Given the description of an element on the screen output the (x, y) to click on. 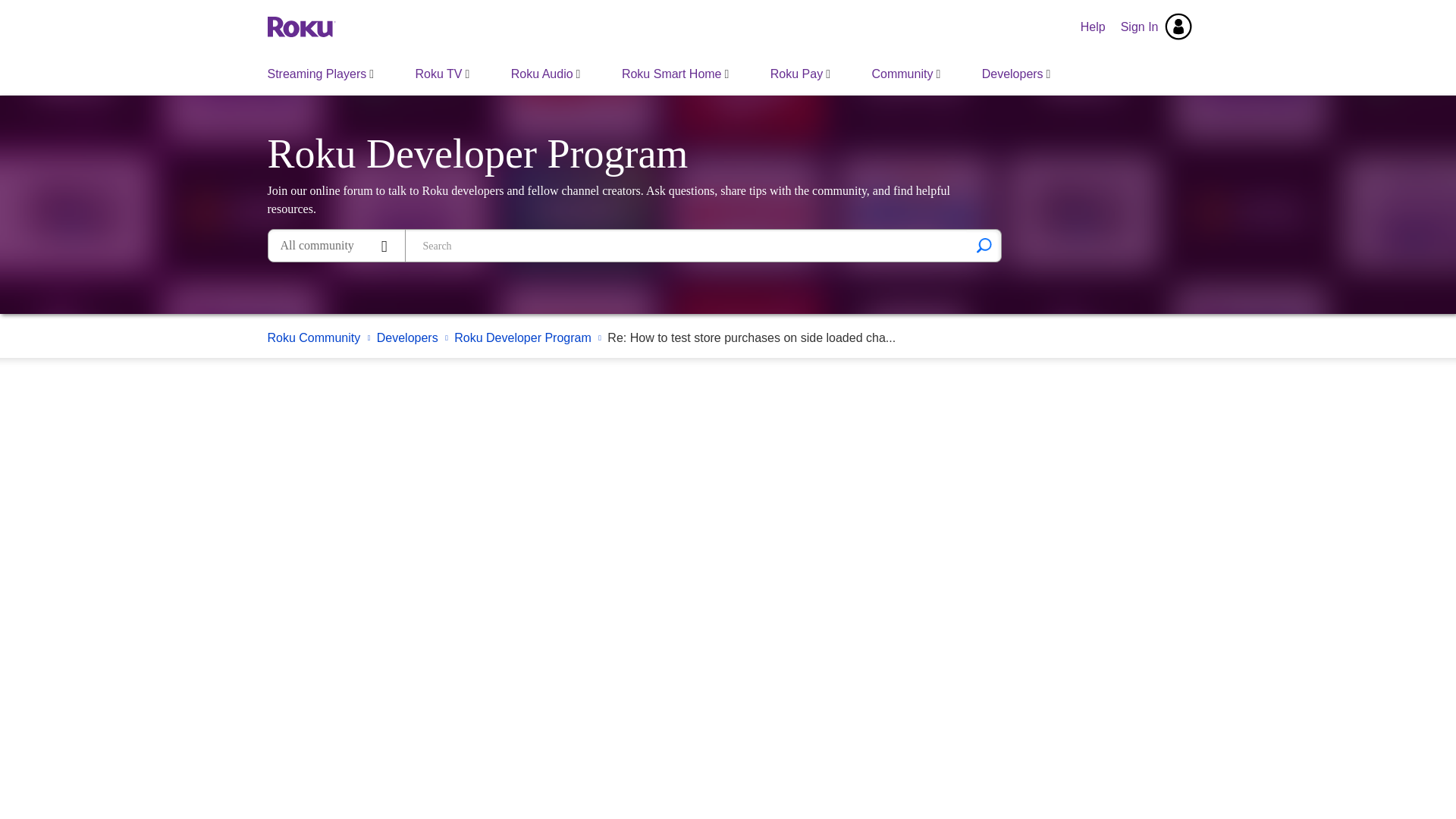
Roku Pay (799, 73)
Sign In (1156, 26)
Search (983, 245)
Roku Smart Home (675, 73)
Developers (1016, 73)
Search Granularity (335, 245)
Streaming Players (320, 73)
Search (983, 245)
Roku Community (300, 26)
Roku TV (442, 73)
